Given the description of an element on the screen output the (x, y) to click on. 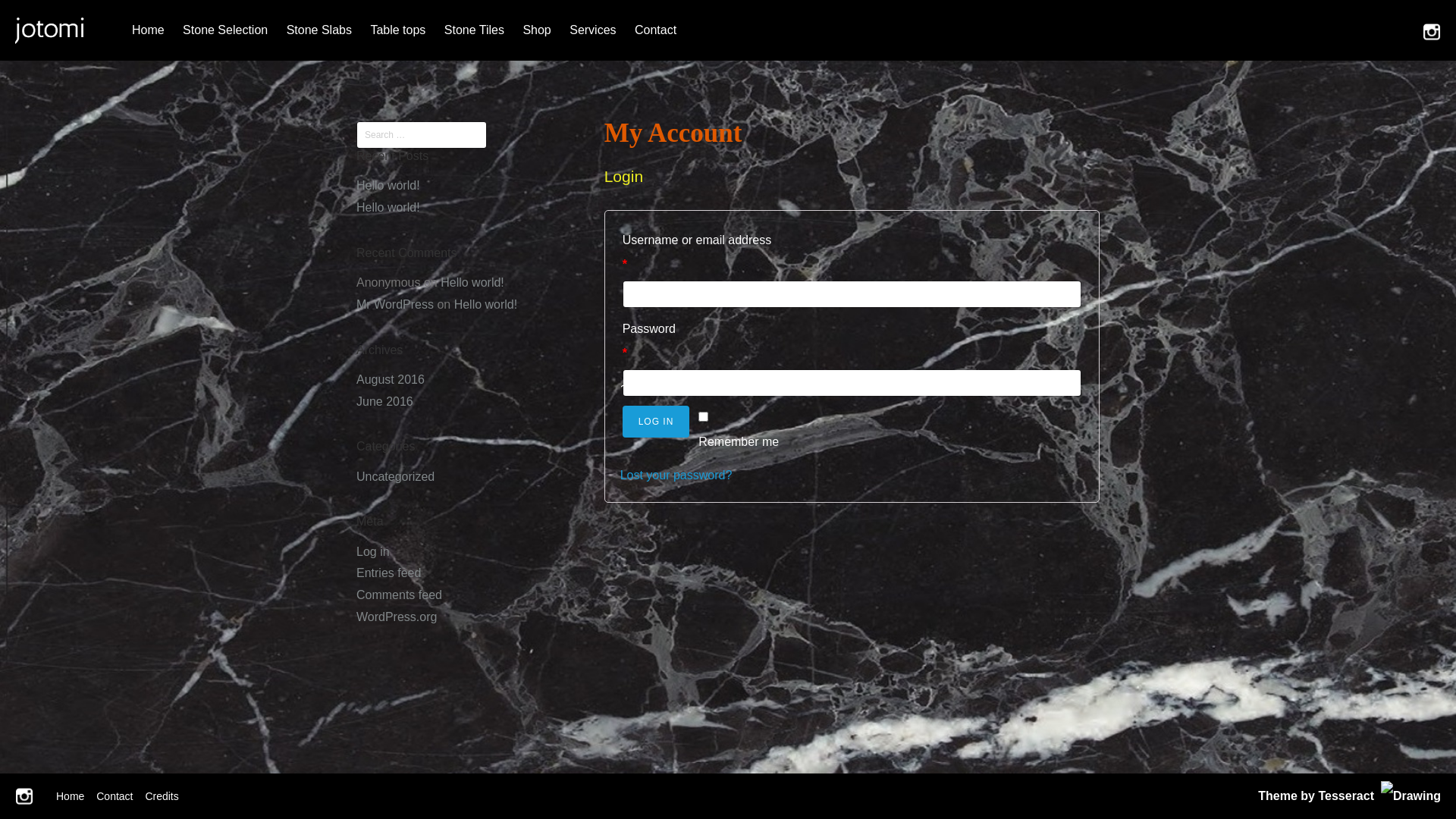
Contact Element type: text (655, 30)
June 2016 Element type: text (384, 401)
Table tops Element type: text (397, 30)
Entries feed Element type: text (388, 572)
Stone Selection Element type: text (225, 30)
LOG IN Element type: text (656, 421)
Credits Element type: text (161, 796)
Log in Element type: text (372, 551)
WordPress.org Element type: text (396, 616)
Lost your password? Element type: text (676, 474)
Hello world! Element type: text (388, 206)
Contact Element type: text (114, 796)
Home Element type: text (148, 30)
Hello world! Element type: text (485, 304)
Hello world! Element type: text (472, 282)
August 2016 Element type: text (390, 379)
Uncategorized Element type: text (395, 476)
Theme by Tesseract Element type: text (1316, 795)
Comments feed Element type: text (399, 594)
Search for: Element type: hover (421, 134)
Stone Tiles Element type: text (473, 30)
Mr WordPress Element type: text (394, 304)
Services Element type: text (592, 30)
Follow Us on Instagram Element type: hover (24, 796)
Home Element type: text (70, 796)
Hello world! Element type: text (388, 184)
Search Element type: text (37, 15)
Shop Element type: text (536, 30)
Stone Slabs Element type: text (319, 30)
Follow Us on Instagram Element type: hover (1431, 30)
